Given the description of an element on the screen output the (x, y) to click on. 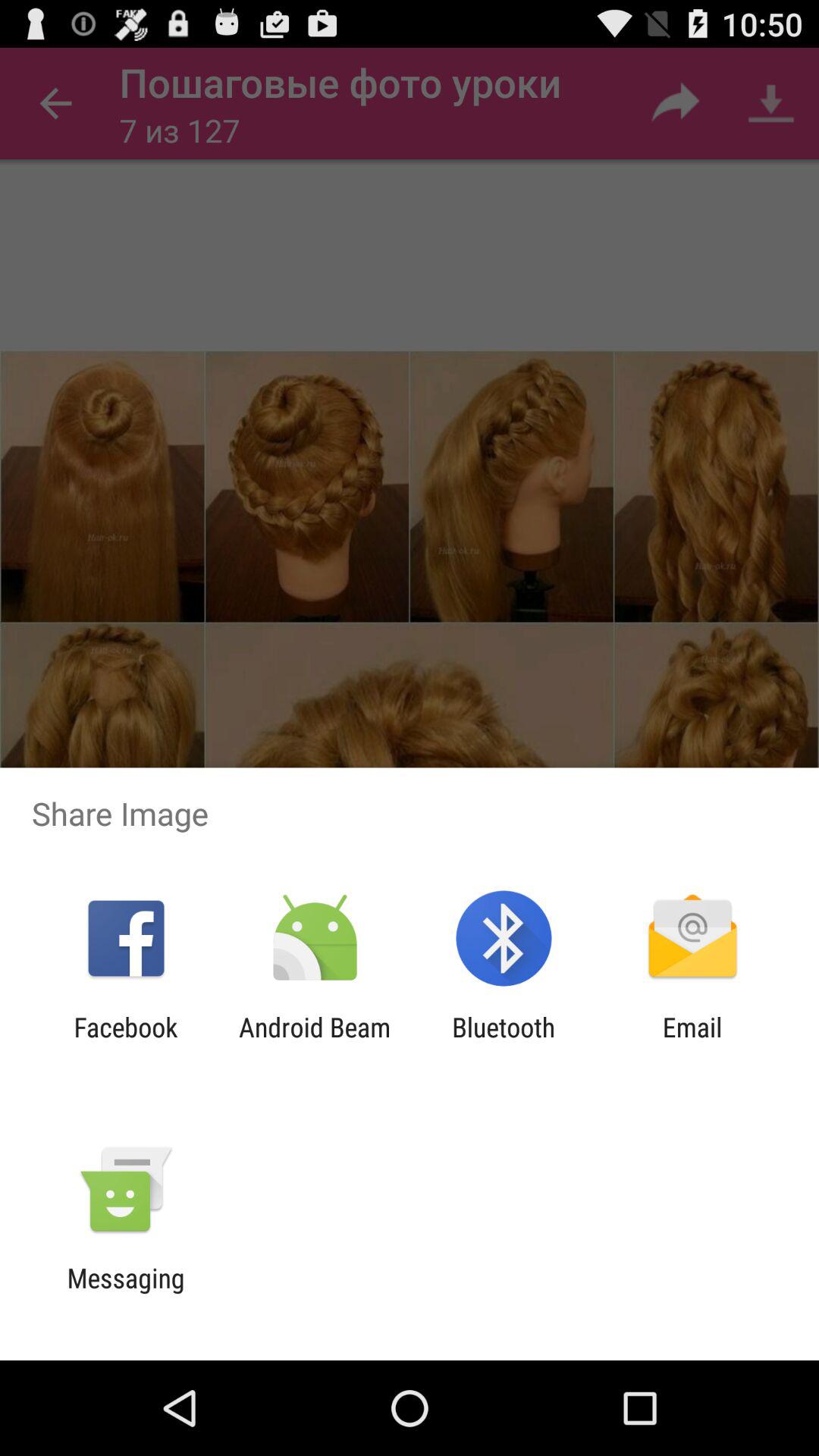
turn off the icon next to the facebook item (314, 1042)
